Given the description of an element on the screen output the (x, y) to click on. 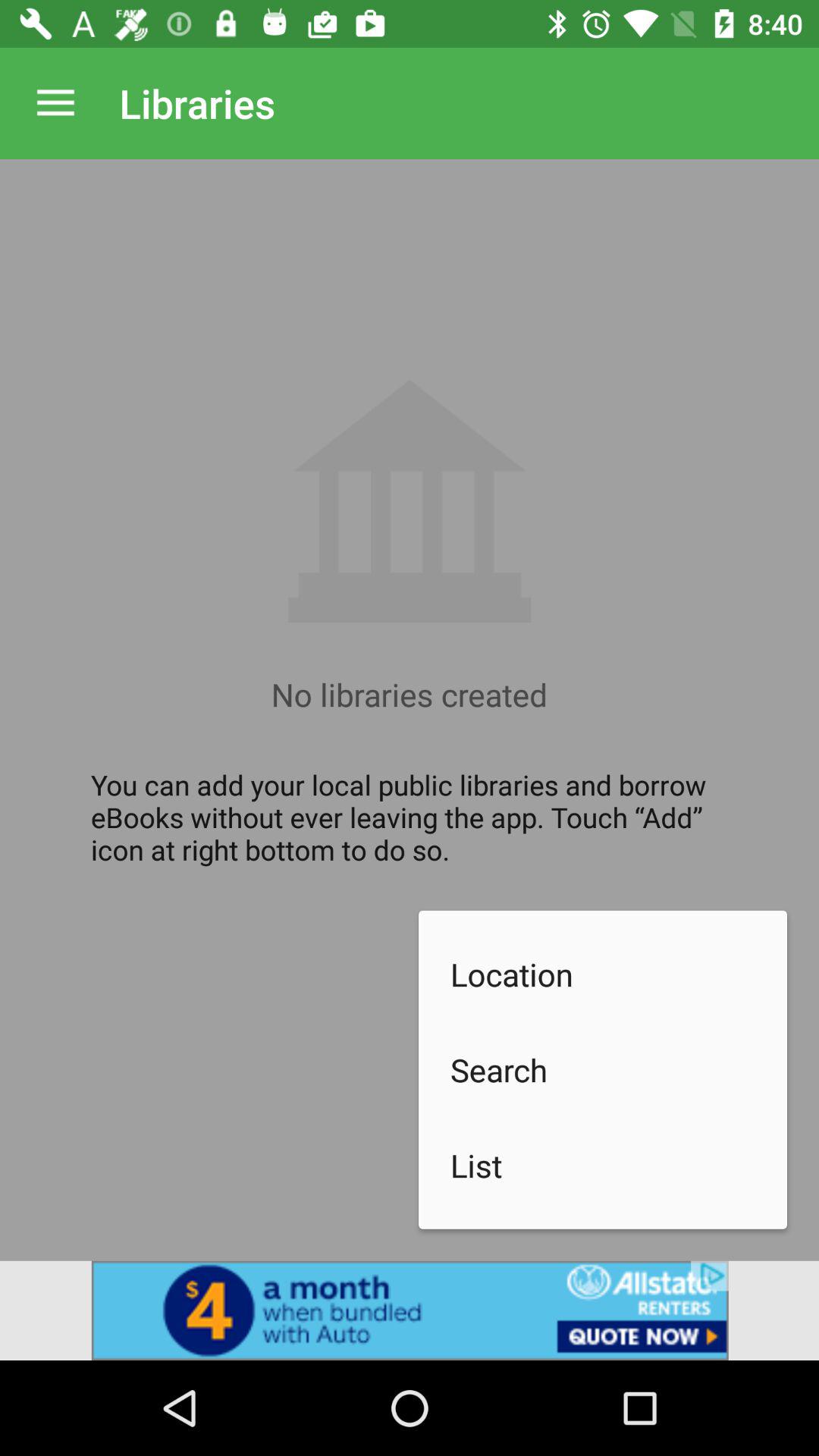
select advertisement (409, 1310)
